Given the description of an element on the screen output the (x, y) to click on. 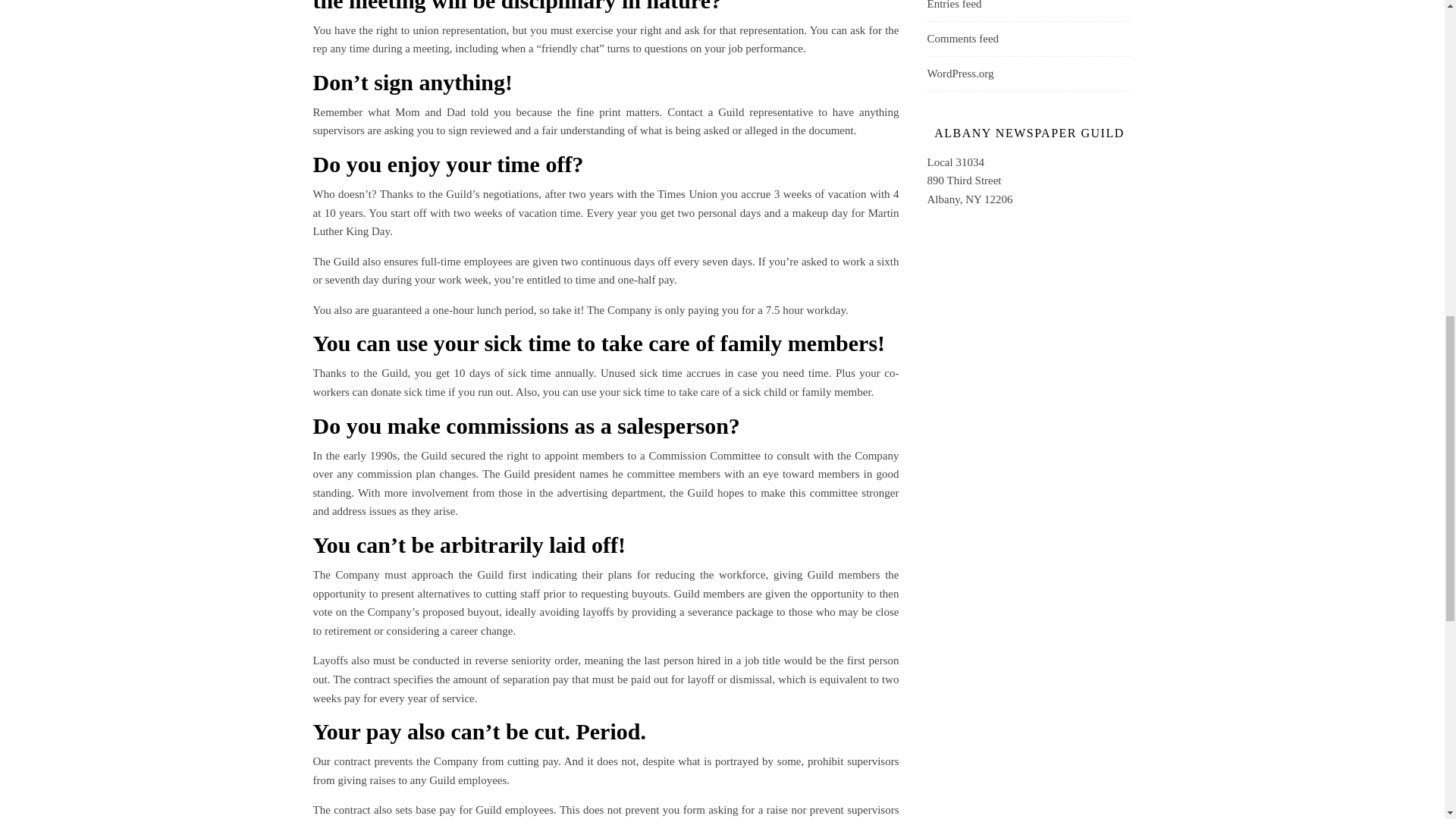
WordPress.org (959, 73)
Comments feed (962, 38)
Entries feed (953, 4)
